Given the description of an element on the screen output the (x, y) to click on. 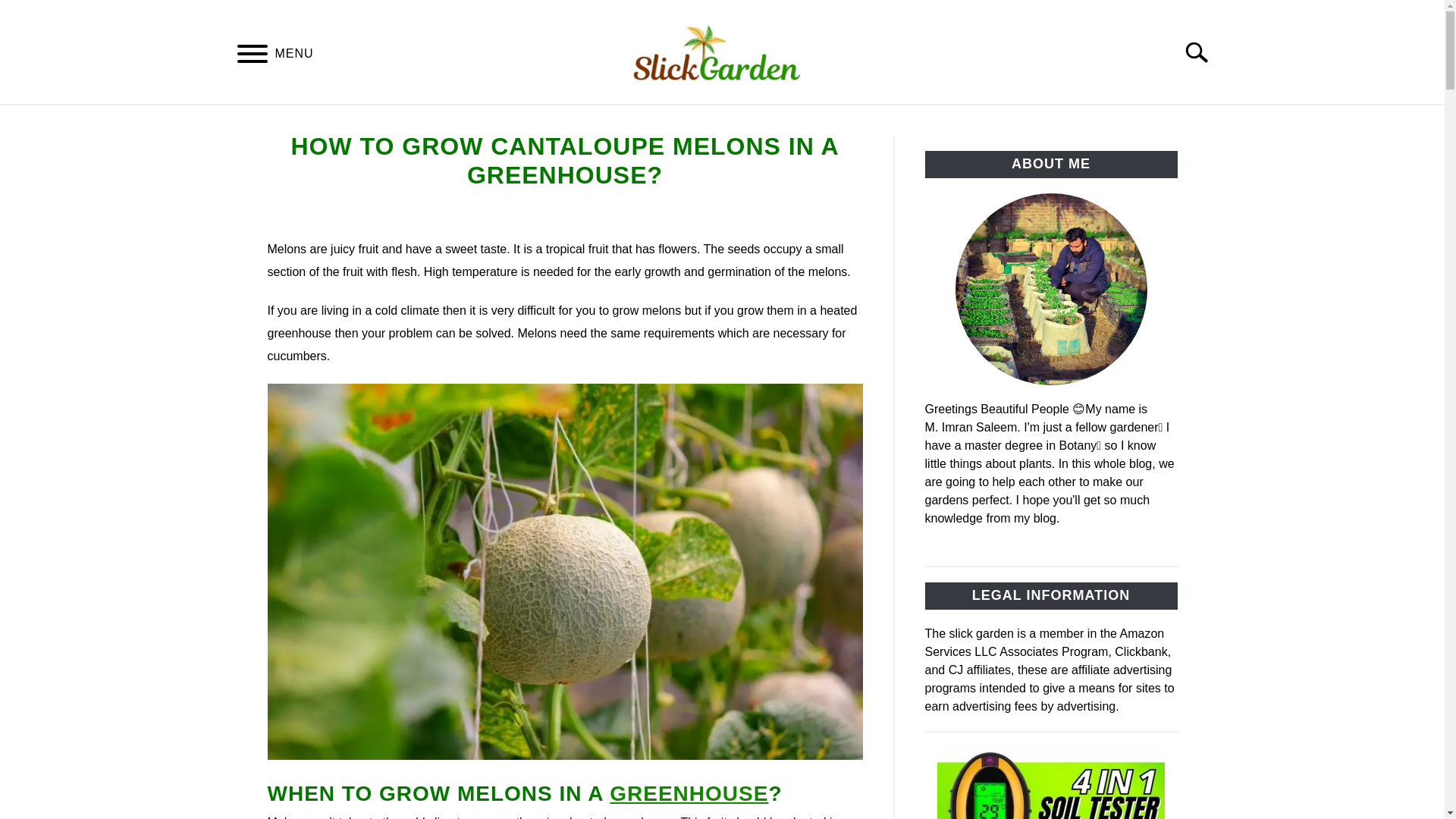
RAISED BED GARDEN (619, 122)
GROW LIGHTS (469, 122)
KITCHEN GARDEN (786, 122)
Search (1203, 51)
GREENHOUSE (689, 793)
PRIVACY POLICY (1128, 122)
ORNAMENTAL GARDEN (961, 122)
GREENHOUSE TIPS (325, 122)
MENU (251, 55)
